Given the description of an element on the screen output the (x, y) to click on. 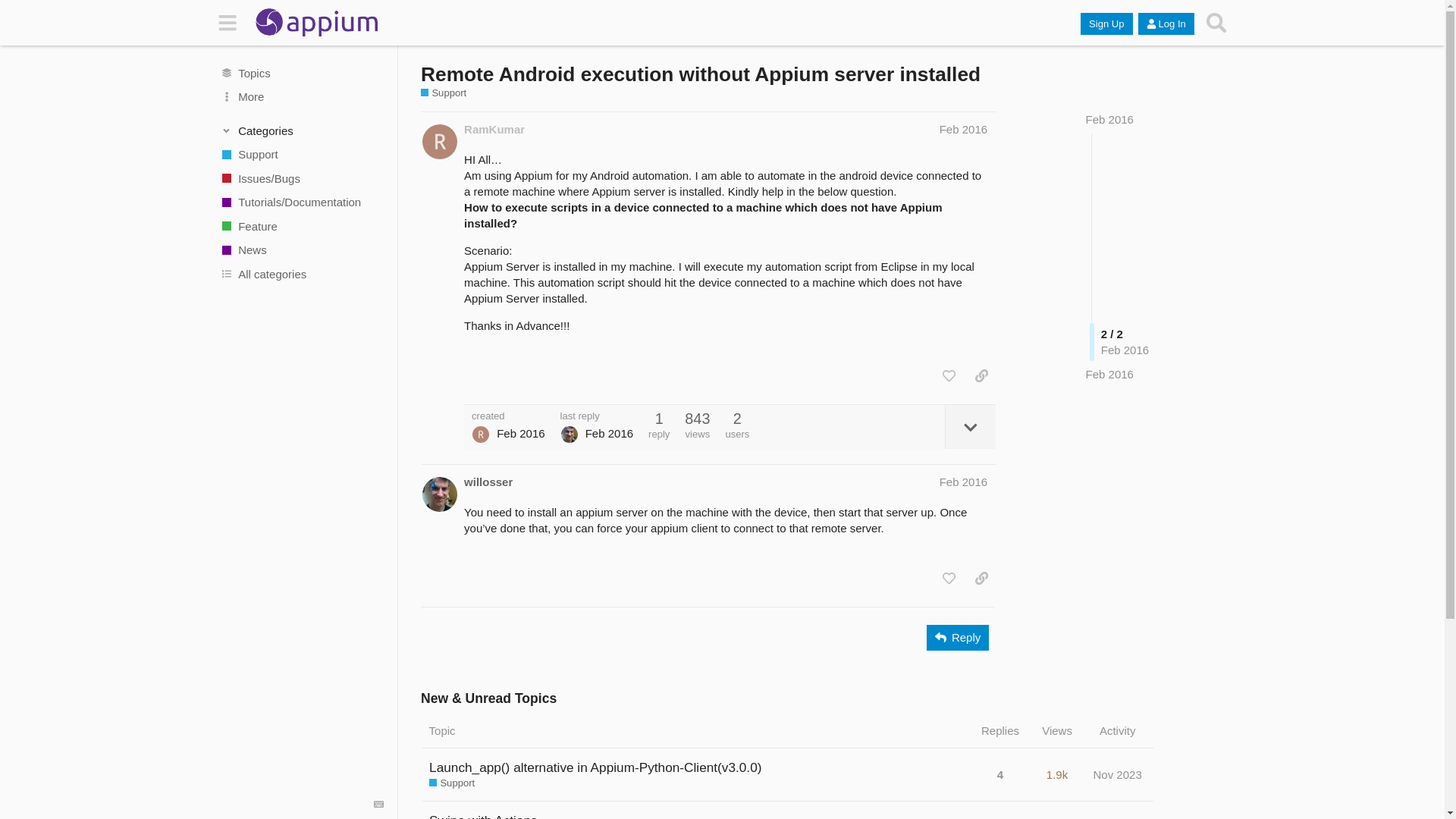
Request or Suggest new features for appium (301, 225)
Feb 2016 (1110, 119)
Feature (301, 225)
Support (451, 783)
More (301, 96)
All categories (301, 274)
Support (301, 154)
RamKumar (494, 129)
Ask questions about how to use or set up appium (301, 154)
Keyboard Shortcuts (378, 805)
Post date (963, 128)
Sidebar (227, 22)
last reply (596, 415)
Remote Android execution without Appium server installed (699, 74)
